Given the description of an element on the screen output the (x, y) to click on. 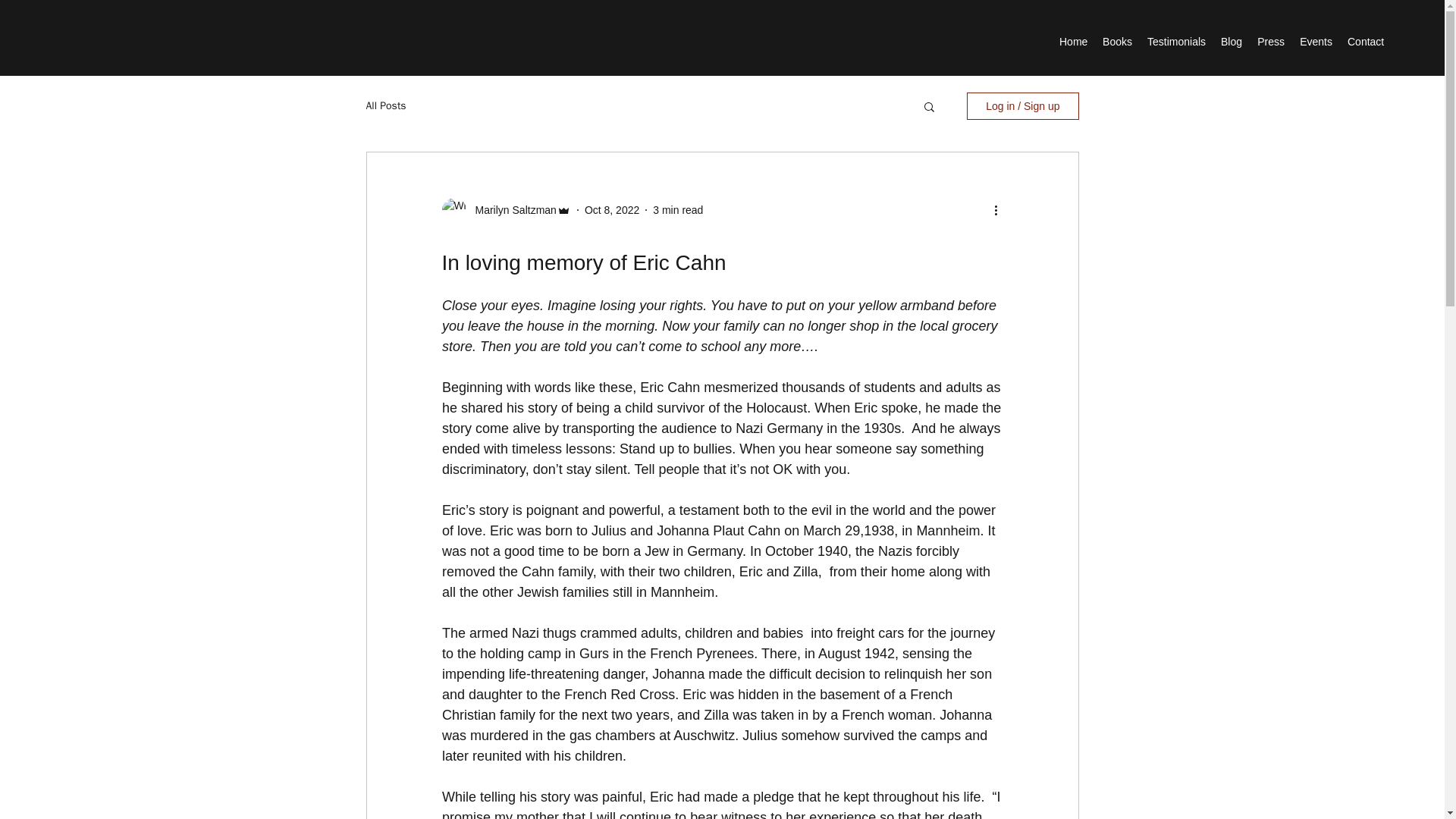
Marilyn Saltzman (510, 209)
Books (1117, 41)
3 min read (677, 209)
Contact (1365, 41)
Blog (1230, 41)
Press (1270, 41)
Events (1315, 41)
Testimonials (1176, 41)
Home (1072, 41)
Oct 8, 2022 (612, 209)
All Posts (385, 106)
